Given the description of an element on the screen output the (x, y) to click on. 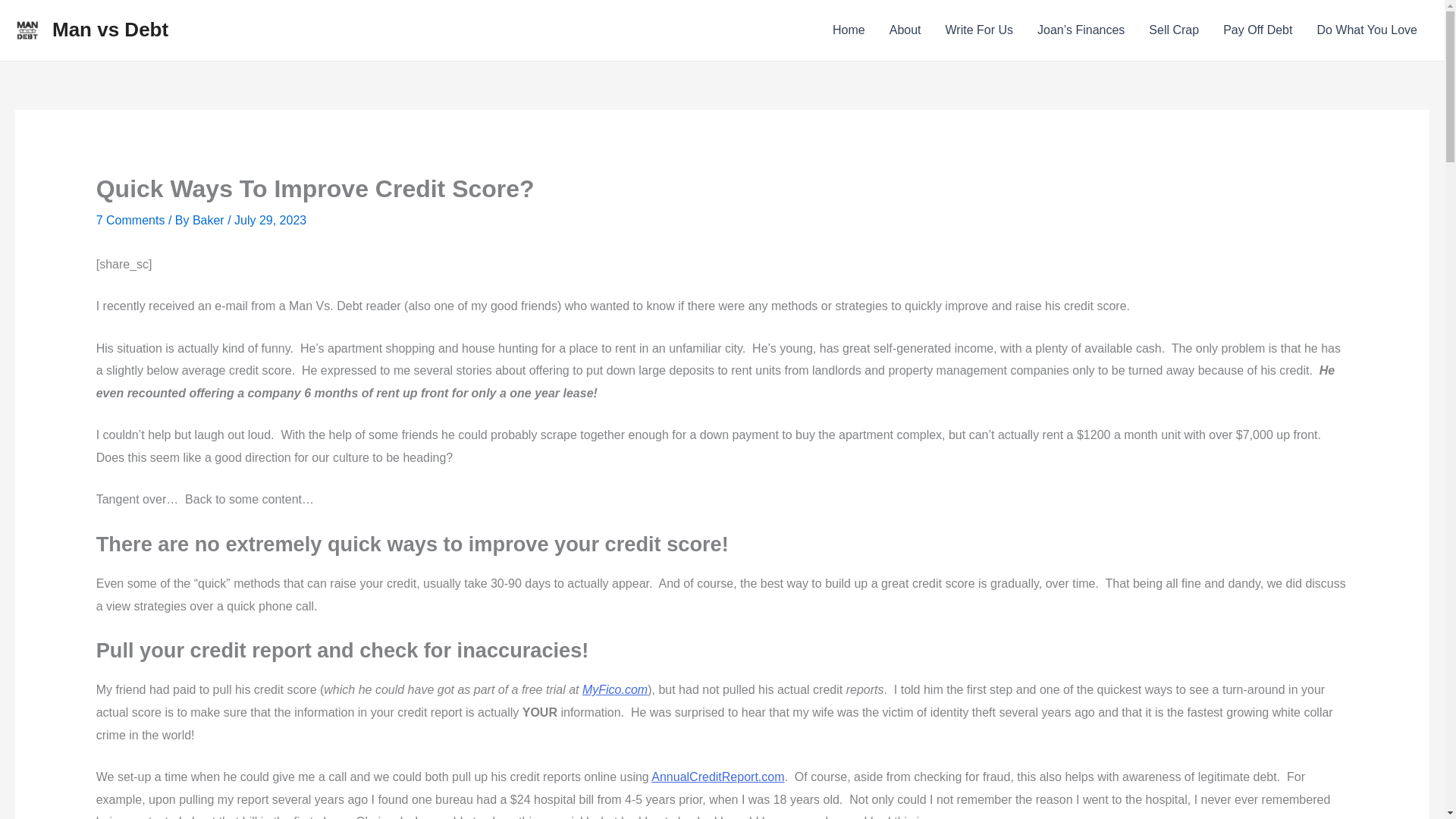
Home (849, 30)
My Fico (614, 689)
About (905, 30)
Do What You Love (1366, 30)
Annual Credit Report (717, 776)
Pay Off Debt (1257, 30)
Write For Us (979, 30)
About (905, 30)
Sell Crap (1174, 30)
Home (849, 30)
